Given the description of an element on the screen output the (x, y) to click on. 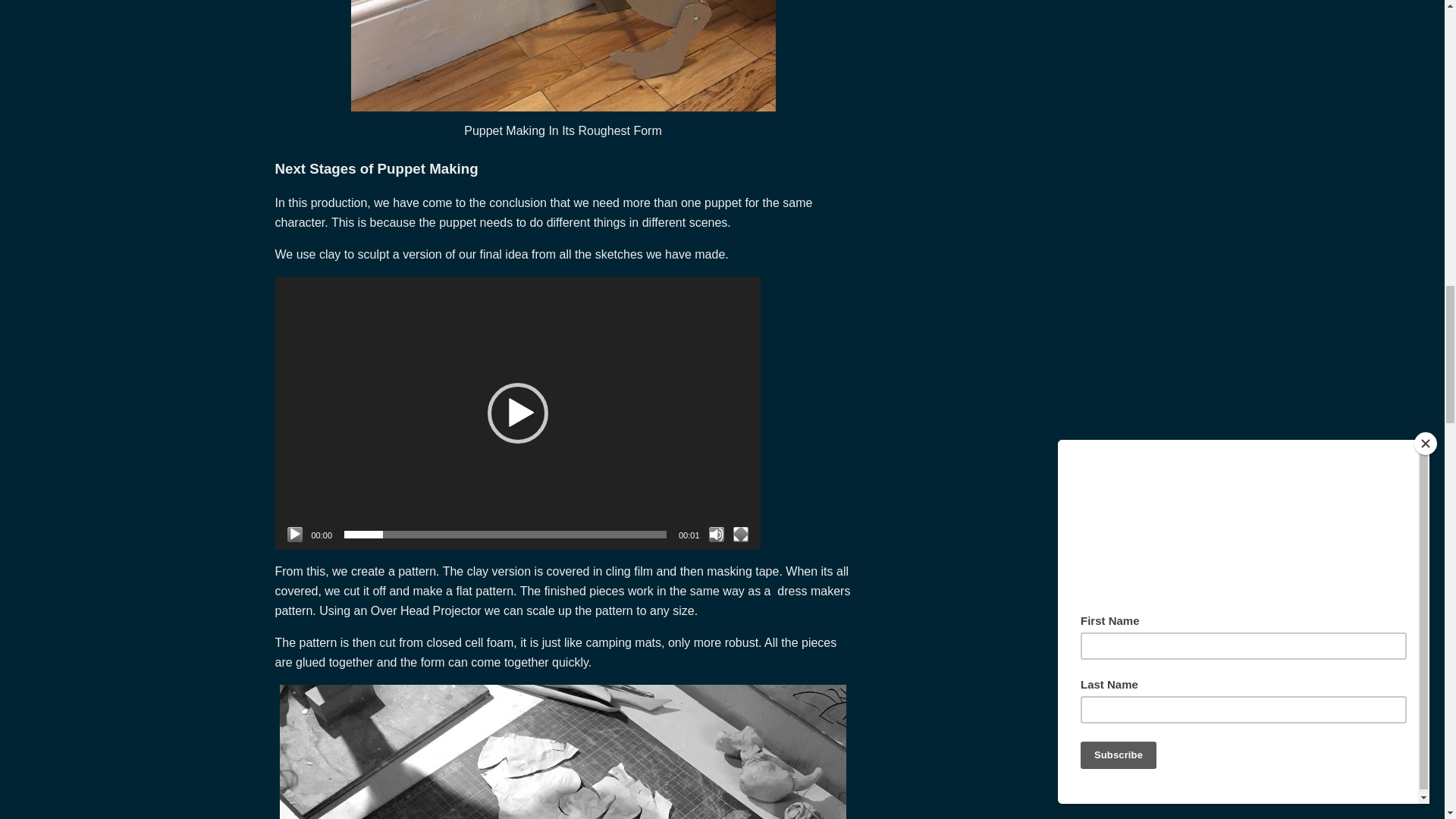
Fullscreen (740, 534)
Mute (715, 534)
Play (293, 534)
